Given the description of an element on the screen output the (x, y) to click on. 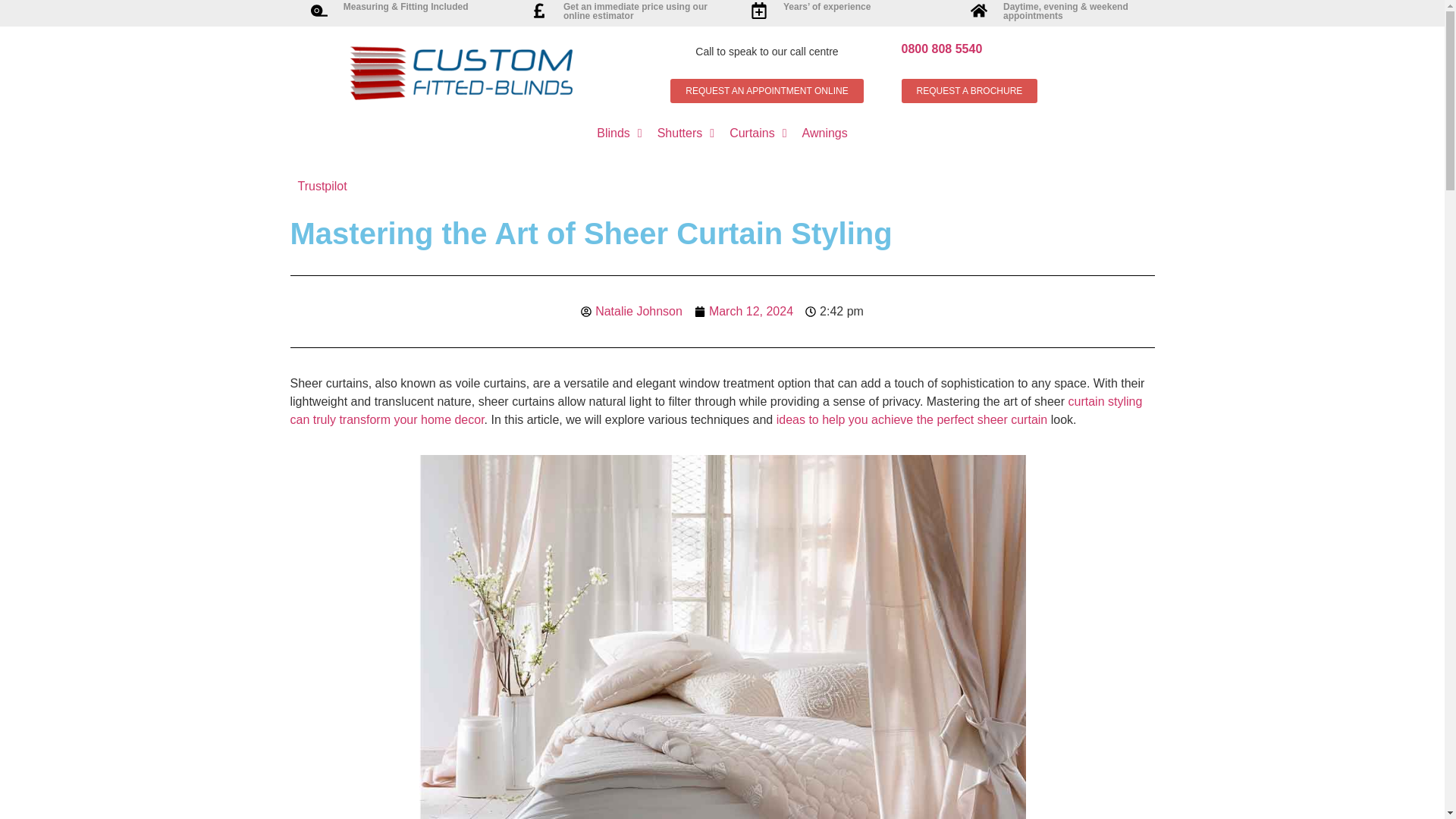
REQUEST A BROCHURE (968, 90)
REQUEST AN APPOINTMENT ONLINE (766, 90)
Blinds (619, 133)
Shutters (685, 133)
0800 808 5540 (941, 48)
